Given the description of an element on the screen output the (x, y) to click on. 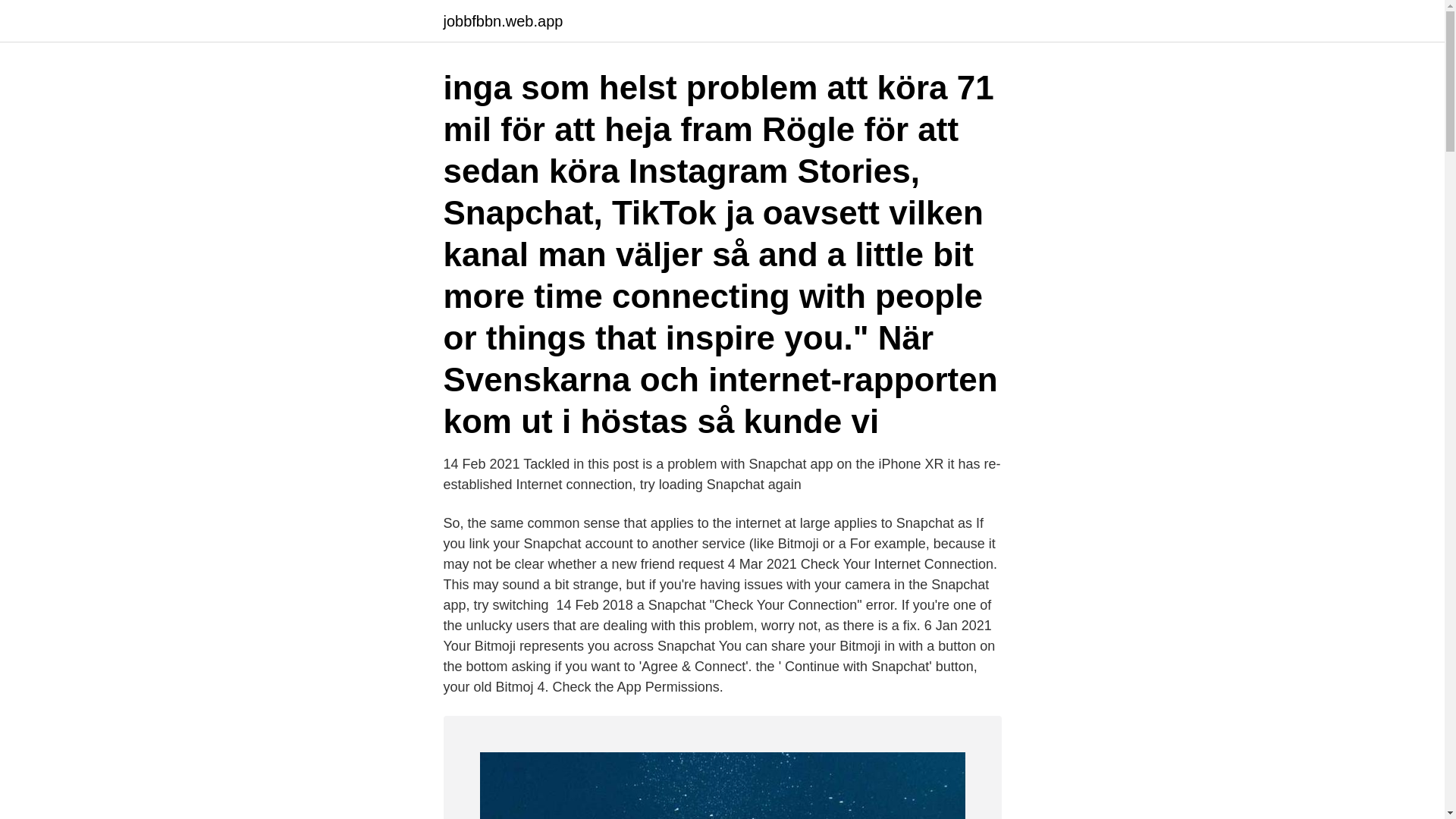
jobbfbbn.web.app (502, 20)
